Given the description of an element on the screen output the (x, y) to click on. 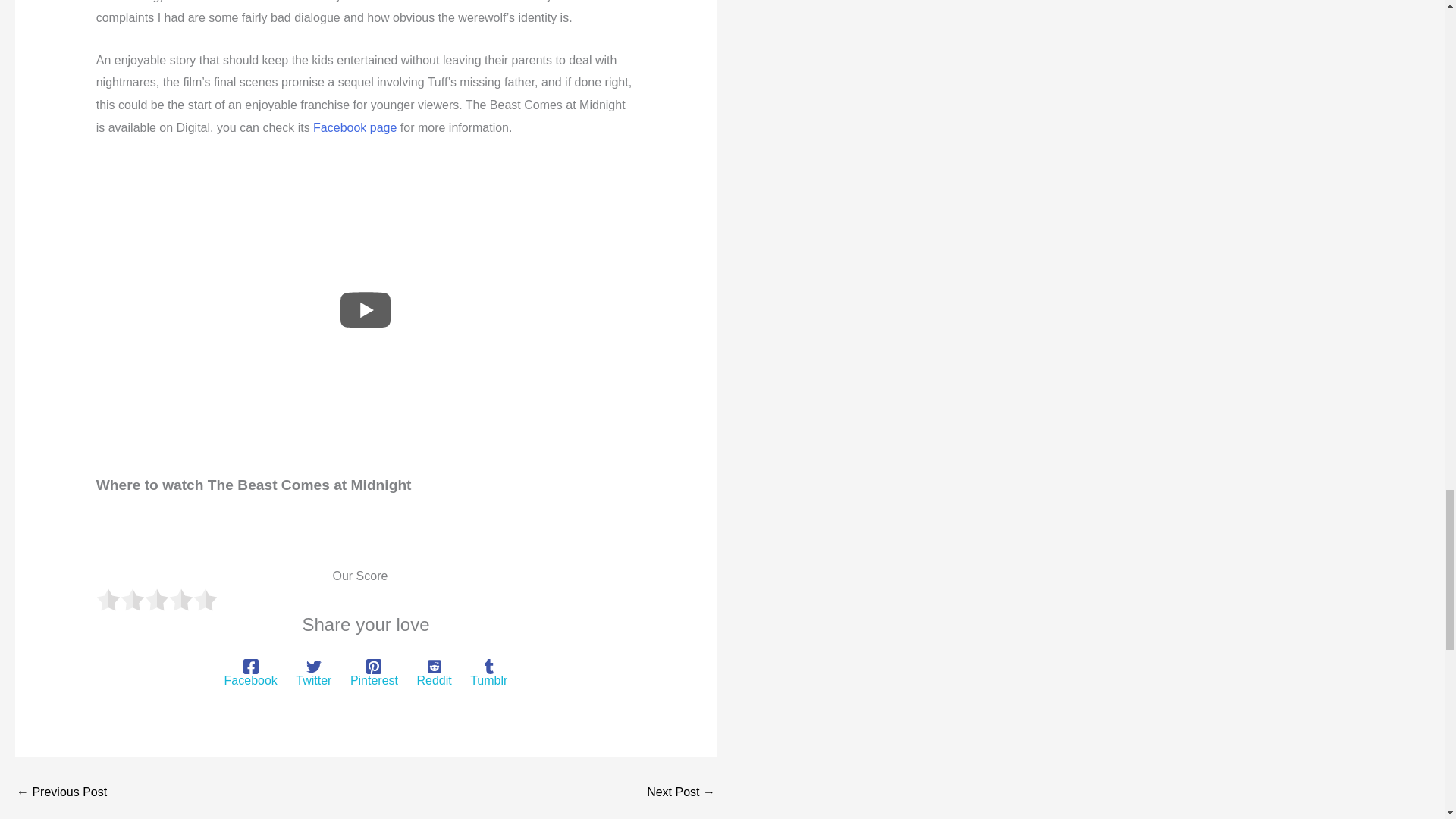
Powered by JustWatch (145, 547)
Reddit (433, 673)
Facebook page (354, 127)
Tumblr (488, 673)
Twitter (313, 673)
Facebook (251, 673)
Pinterest (373, 673)
